Given the description of an element on the screen output the (x, y) to click on. 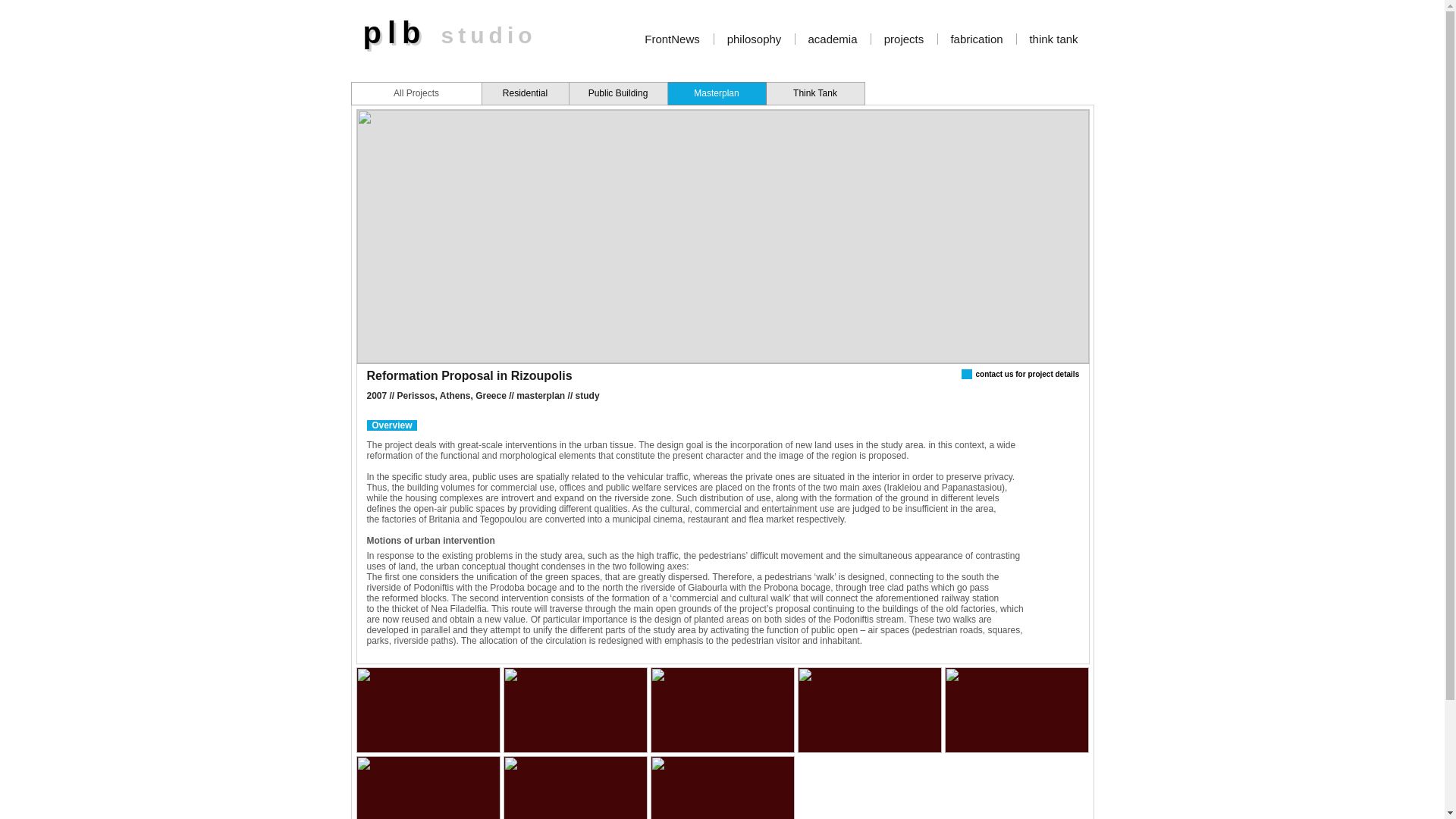
philosophy (754, 39)
contact us for project details (1026, 374)
Public Building (618, 93)
think tank (1053, 39)
Think Tank (814, 93)
fabrication (975, 39)
academia (831, 39)
Residential (524, 93)
FrontNews (671, 39)
studio (489, 34)
projects (903, 39)
plb (397, 34)
All Projects (415, 93)
plb  (401, 32)
Masterplan (716, 93)
